Given the description of an element on the screen output the (x, y) to click on. 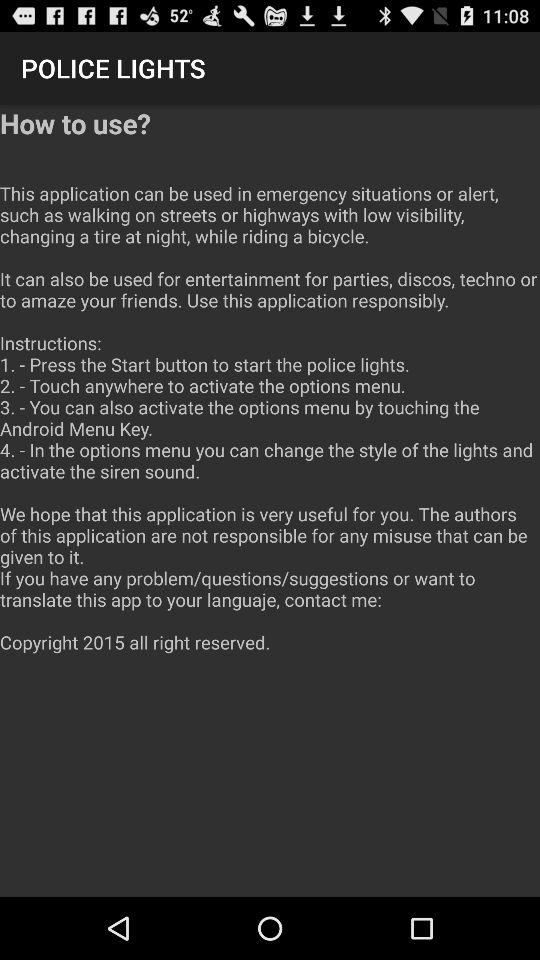
jump until the how to use icon (270, 390)
